Given the description of an element on the screen output the (x, y) to click on. 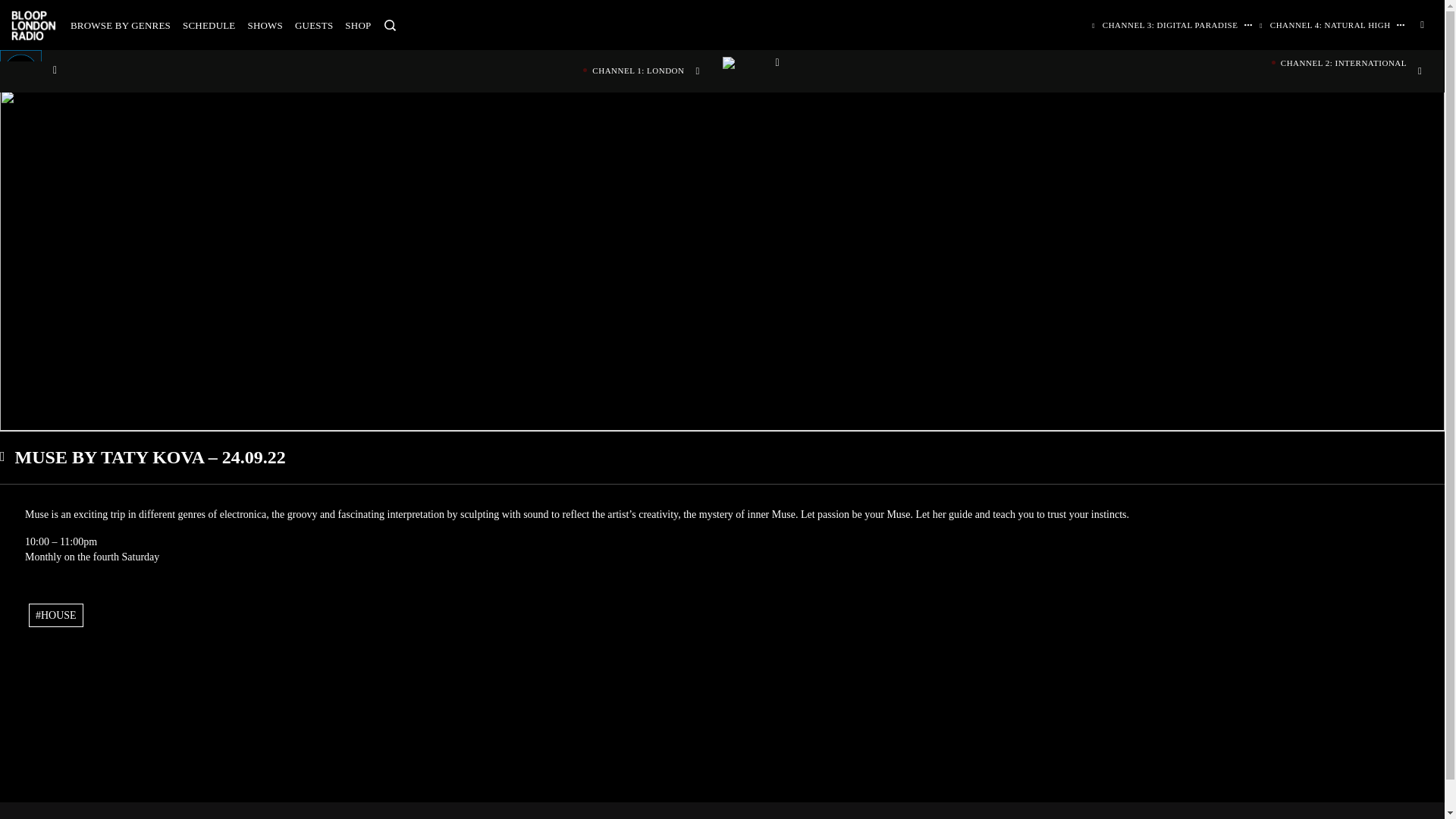
GUESTS (313, 25)
   CHANNEL 3: DIGITAL PARADISE (1166, 24)
   CHANNEL 4: NATURAL HIGH (1326, 24)
      CHANNEL 1: LONDON (361, 70)
BROWSE BY GENRES (120, 25)
SCHEDULE (208, 25)
SHOWS (265, 25)
SHOP (358, 25)
